Given the description of an element on the screen output the (x, y) to click on. 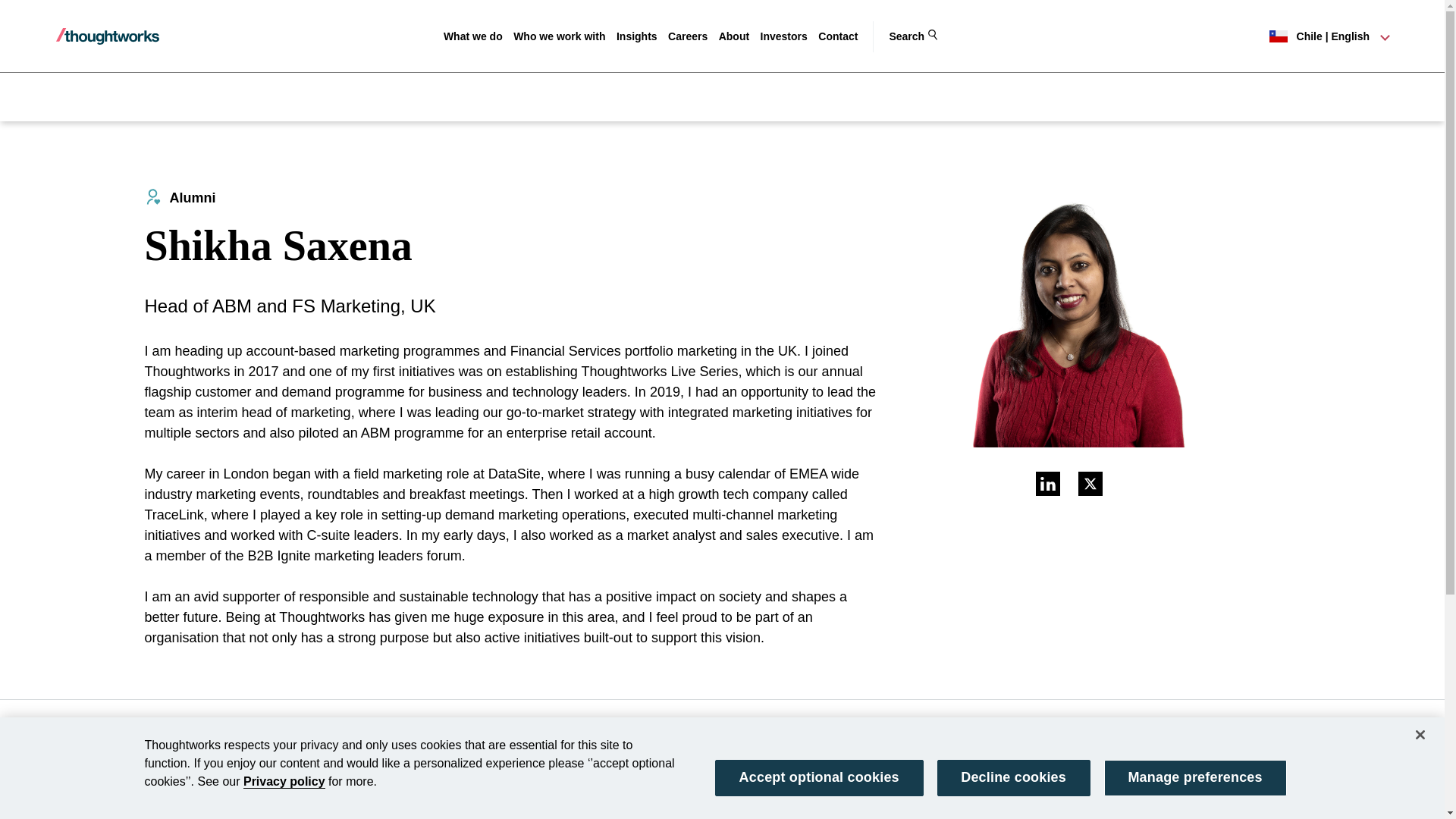
What we do (473, 36)
Who we work with (559, 36)
Thoughtworks (107, 36)
Careers (687, 36)
Insights (636, 36)
Thoughtworks (107, 36)
What we do (473, 36)
Careers (687, 36)
Who we work with (559, 36)
Insights (636, 36)
